Given the description of an element on the screen output the (x, y) to click on. 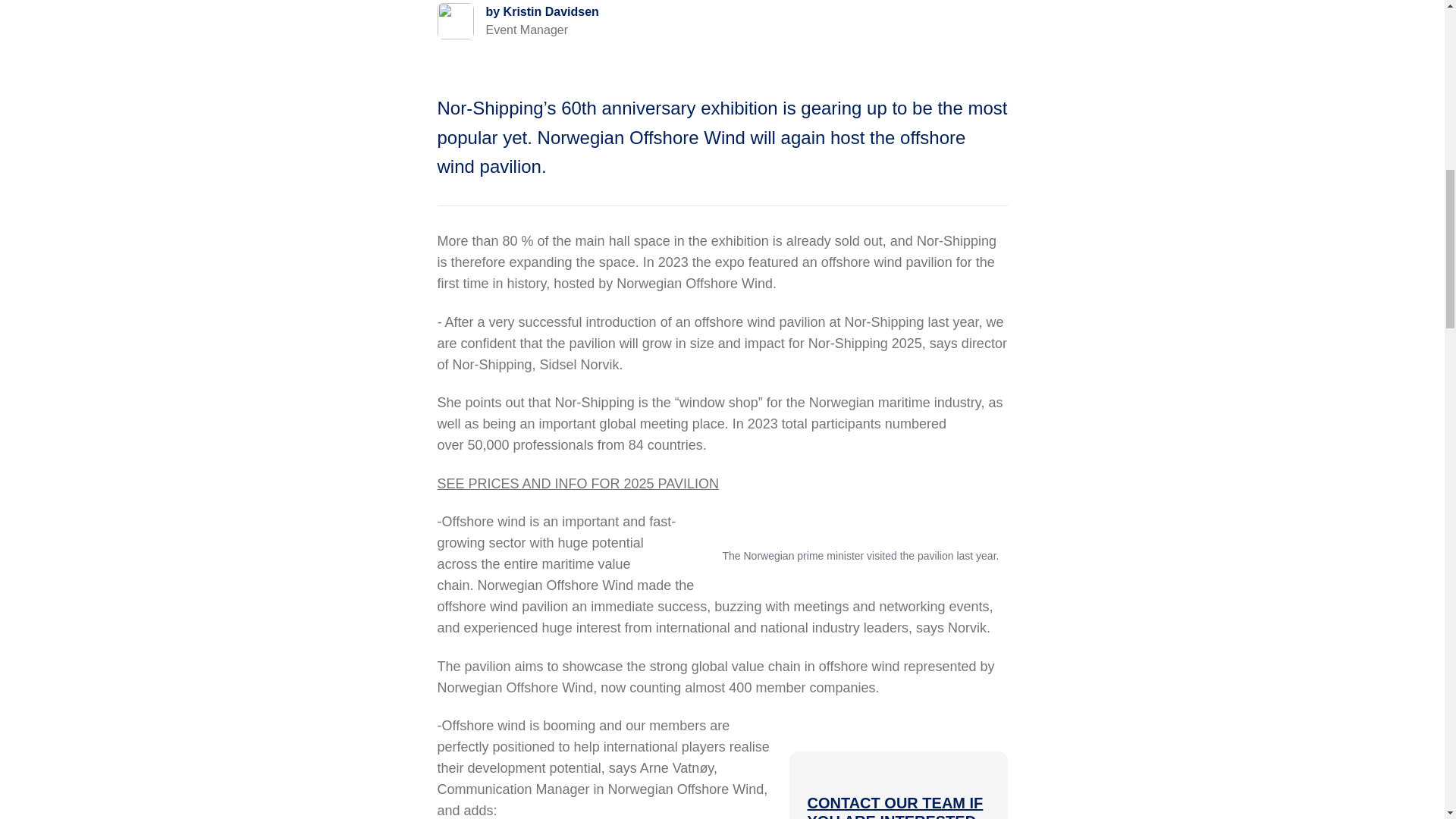
SEE PRICES AND INFO FOR 2025 PAVILION (576, 483)
CONTACT OUR TEAM IF YOU ARE INTERESTED IN THE PAVILION (894, 806)
